Given the description of an element on the screen output the (x, y) to click on. 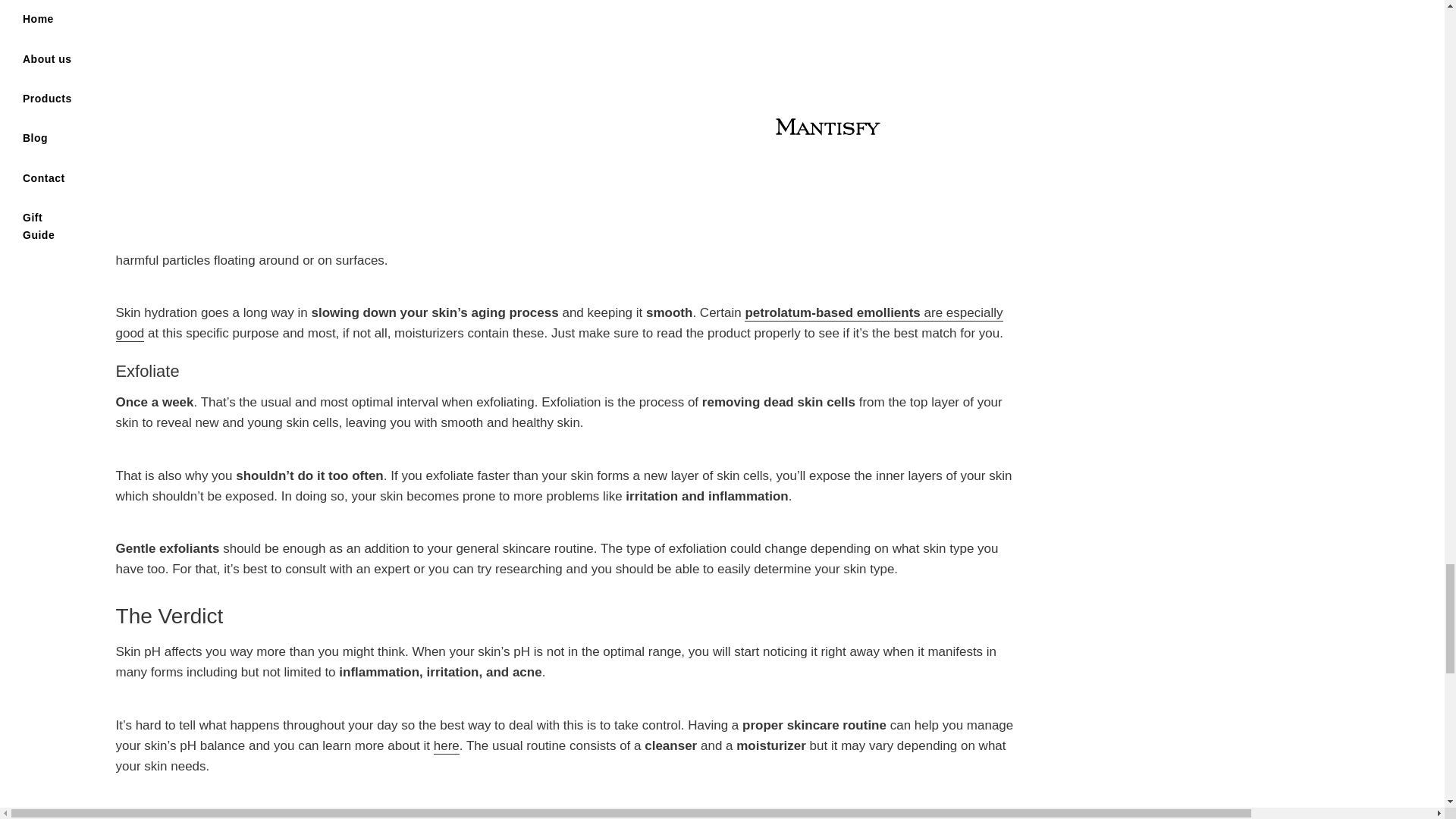
petrolatum-based emollients are especially good (559, 323)
Intrinsic and Extrinsic Factors Affecting Skin Surface pH (559, 323)
best skin care routine for men (446, 746)
here (446, 746)
